Given the description of an element on the screen output the (x, y) to click on. 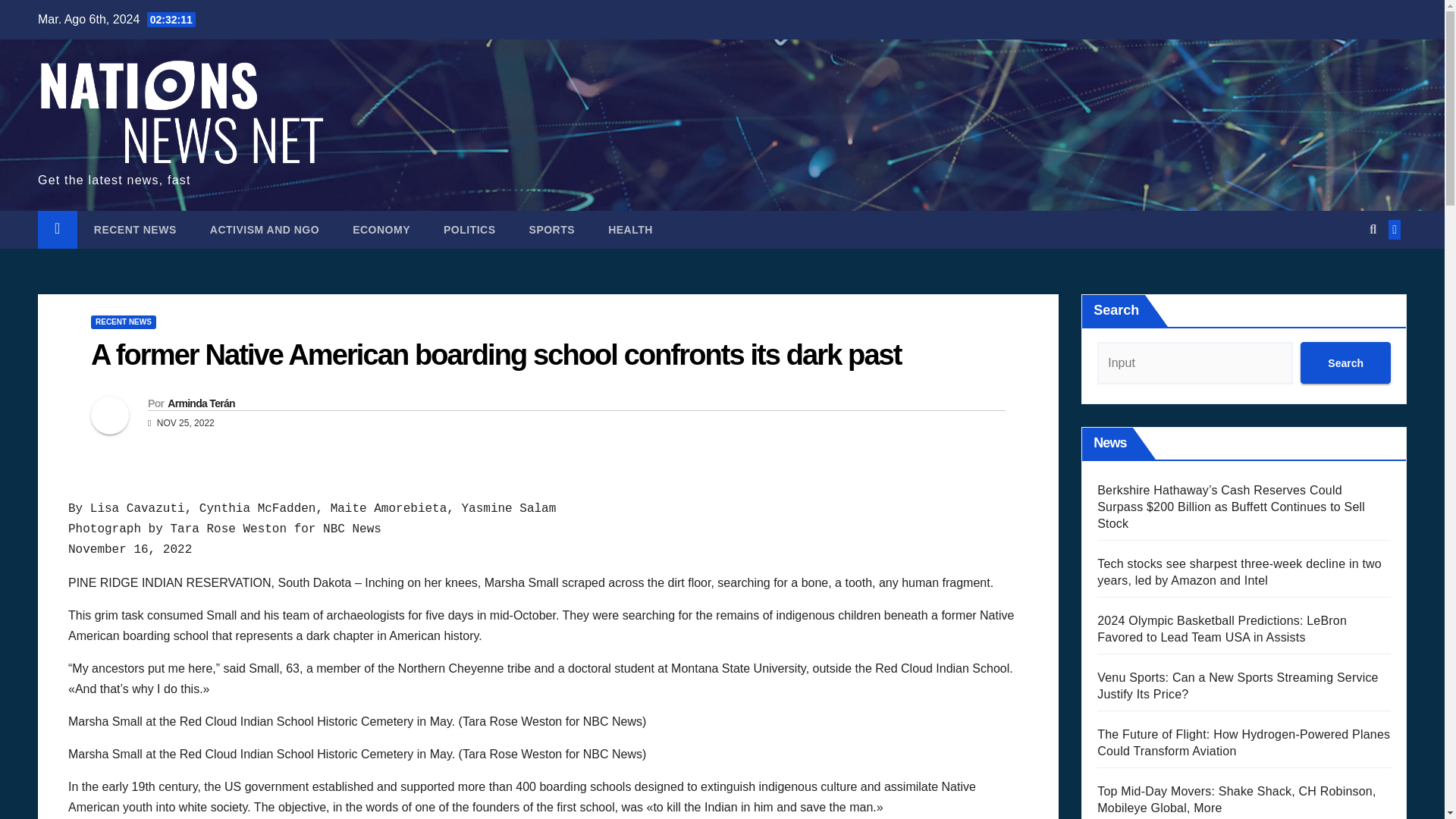
RECENT NEWS (122, 322)
Activism and NGO (264, 229)
RECENT NEWS (135, 229)
Health (630, 229)
ECONOMY (381, 229)
Sports (552, 229)
POLITICS (469, 229)
Recent news (135, 229)
